Given the description of an element on the screen output the (x, y) to click on. 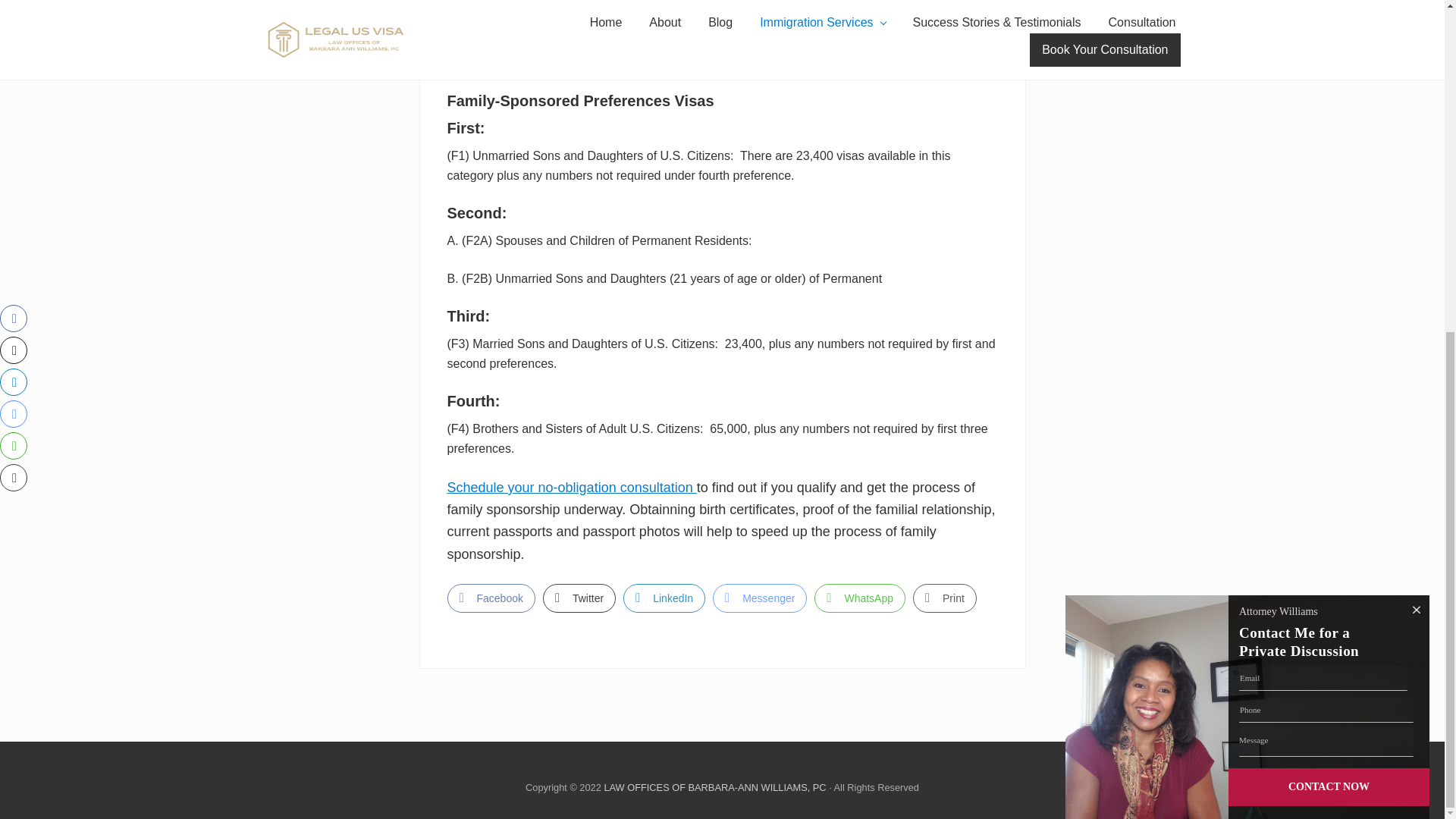
LAW OFFICES OF BARBARA-ANN WILLIAMS, PC (714, 787)
